Given the description of an element on the screen output the (x, y) to click on. 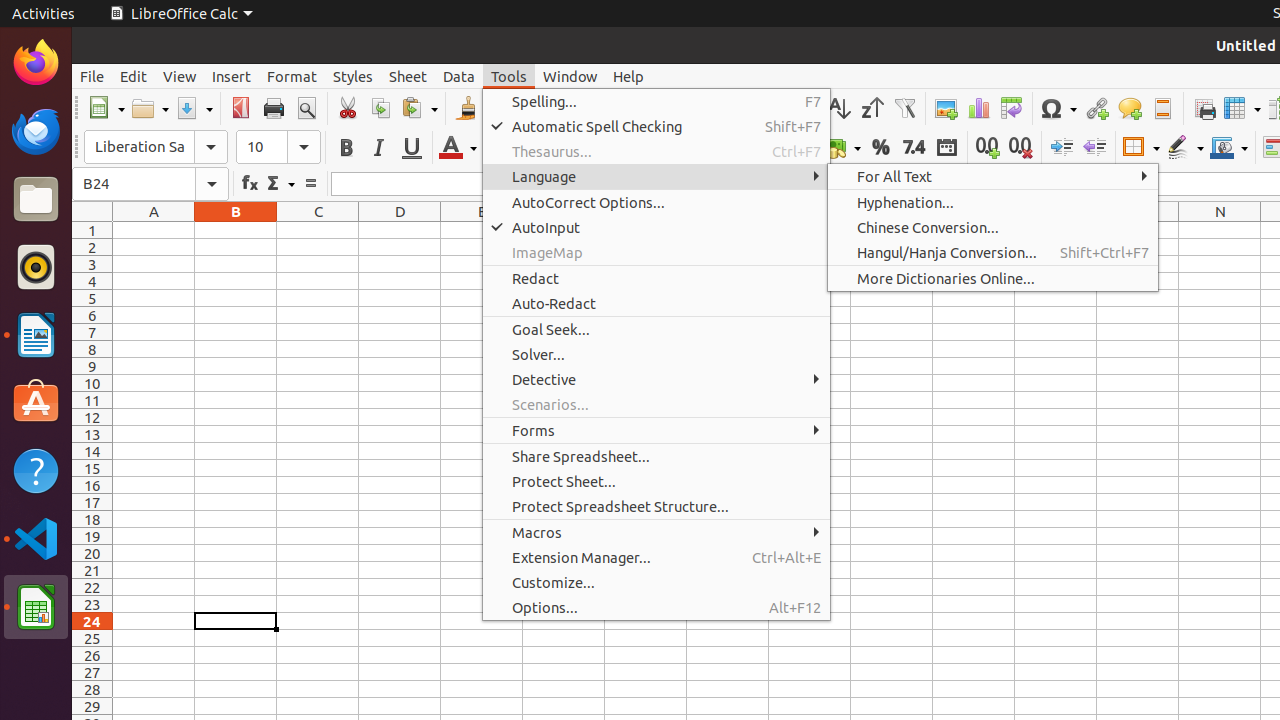
Symbol Element type: push-button (1058, 108)
G1 Element type: table-cell (646, 230)
B1 Element type: table-cell (236, 230)
AutoFilter Element type: push-button (904, 108)
